Given the description of an element on the screen output the (x, y) to click on. 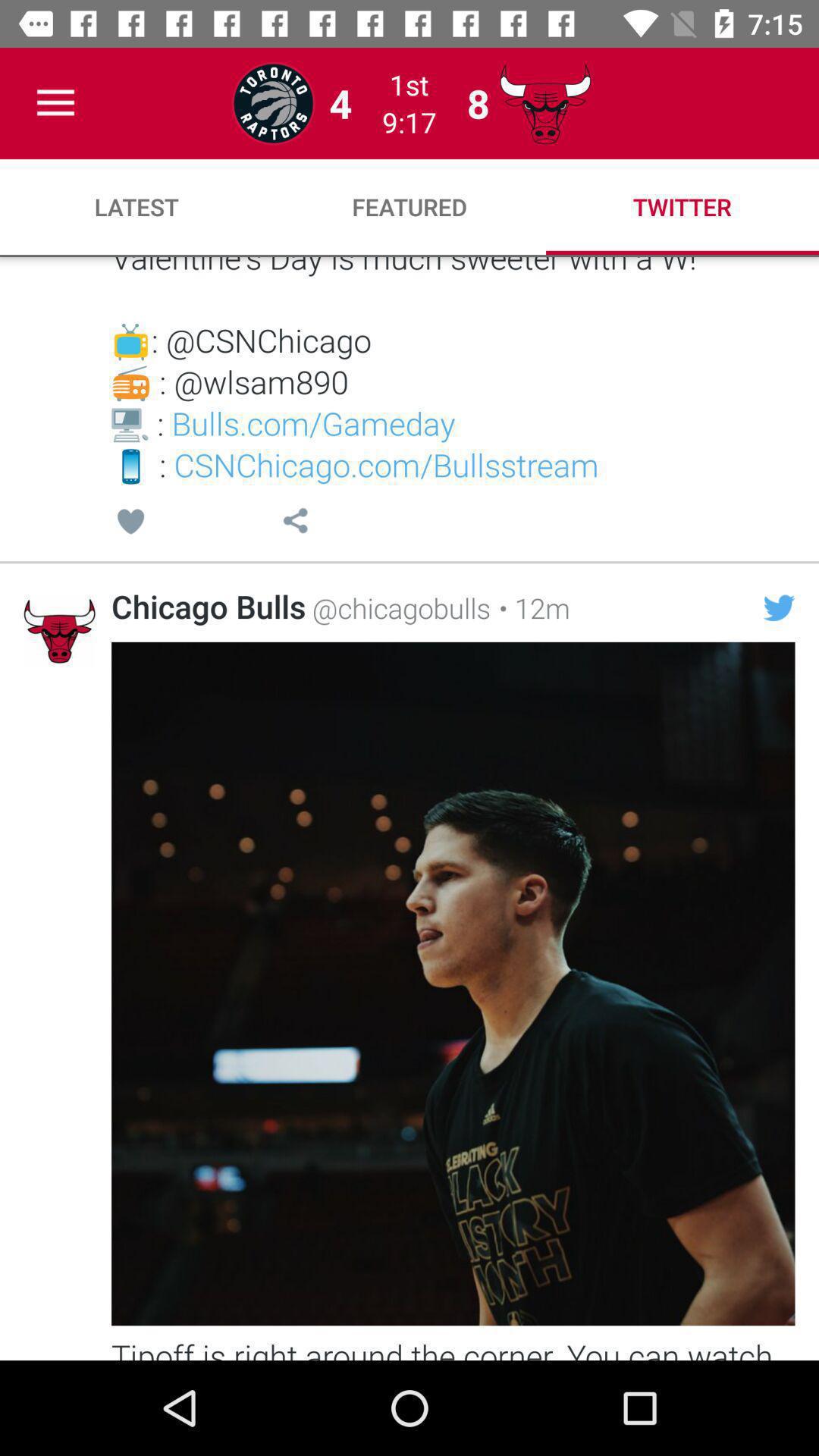
choose @chicagobulls item (397, 607)
